Given the description of an element on the screen output the (x, y) to click on. 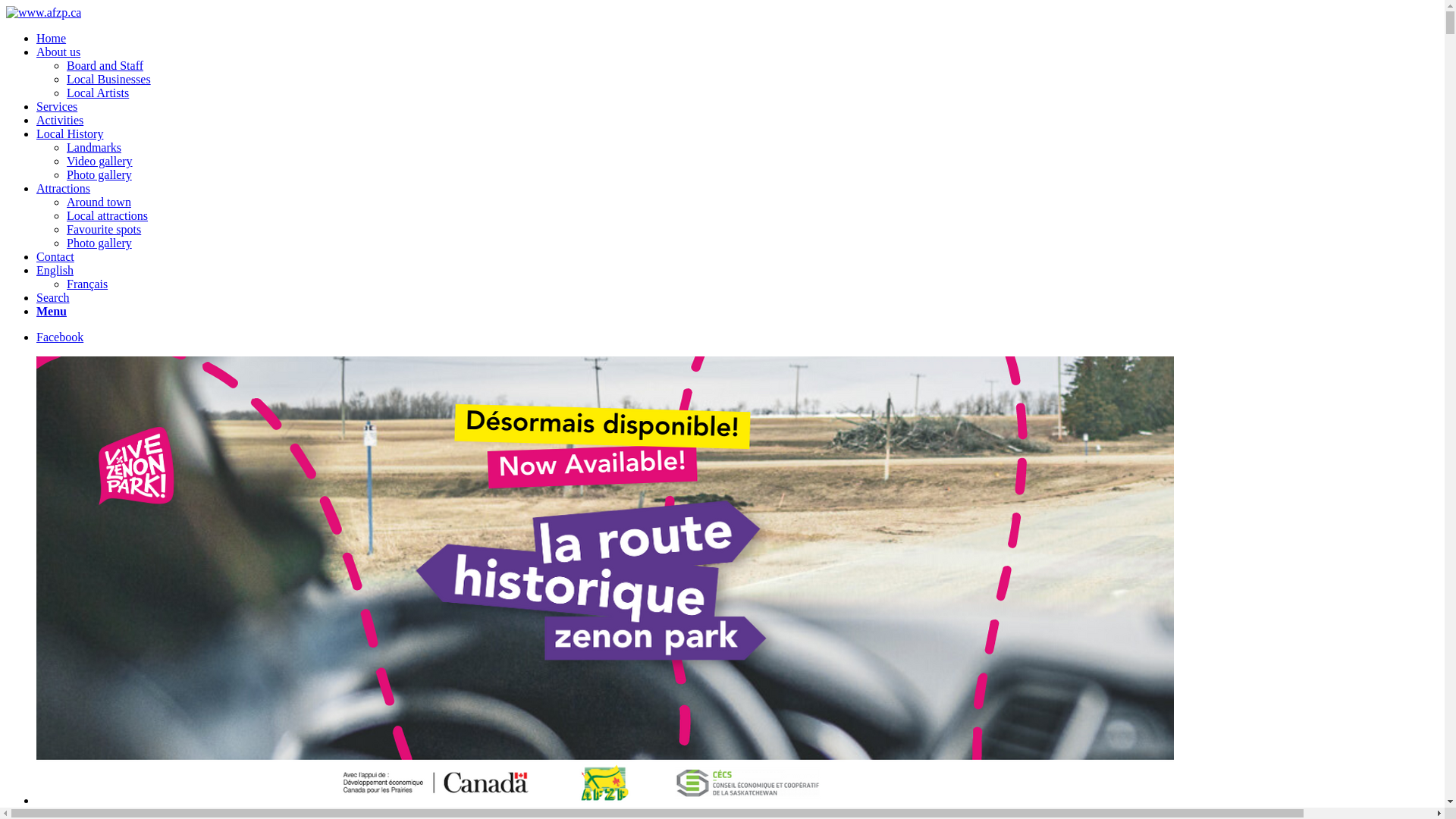
Board and Staff Element type: text (104, 65)
Contact Element type: text (55, 256)
Local Artists Element type: text (97, 92)
Photo gallery Element type: text (98, 242)
Video gallery Element type: text (99, 160)
Local Businesses Element type: text (108, 78)
Around town Element type: text (98, 201)
Local History Element type: text (69, 133)
Favourite spots Element type: text (103, 228)
Photo gallery Element type: text (98, 174)
Home Element type: text (50, 37)
Activities Element type: text (59, 119)
Search Element type: text (52, 297)
Local attractions Element type: text (106, 215)
Services Element type: text (56, 106)
English Element type: text (54, 269)
Menu Element type: text (51, 310)
Facebook Element type: text (59, 336)
Landmarks Element type: text (93, 147)
About us Element type: text (58, 51)
Attractions Element type: text (63, 188)
